Given the description of an element on the screen output the (x, y) to click on. 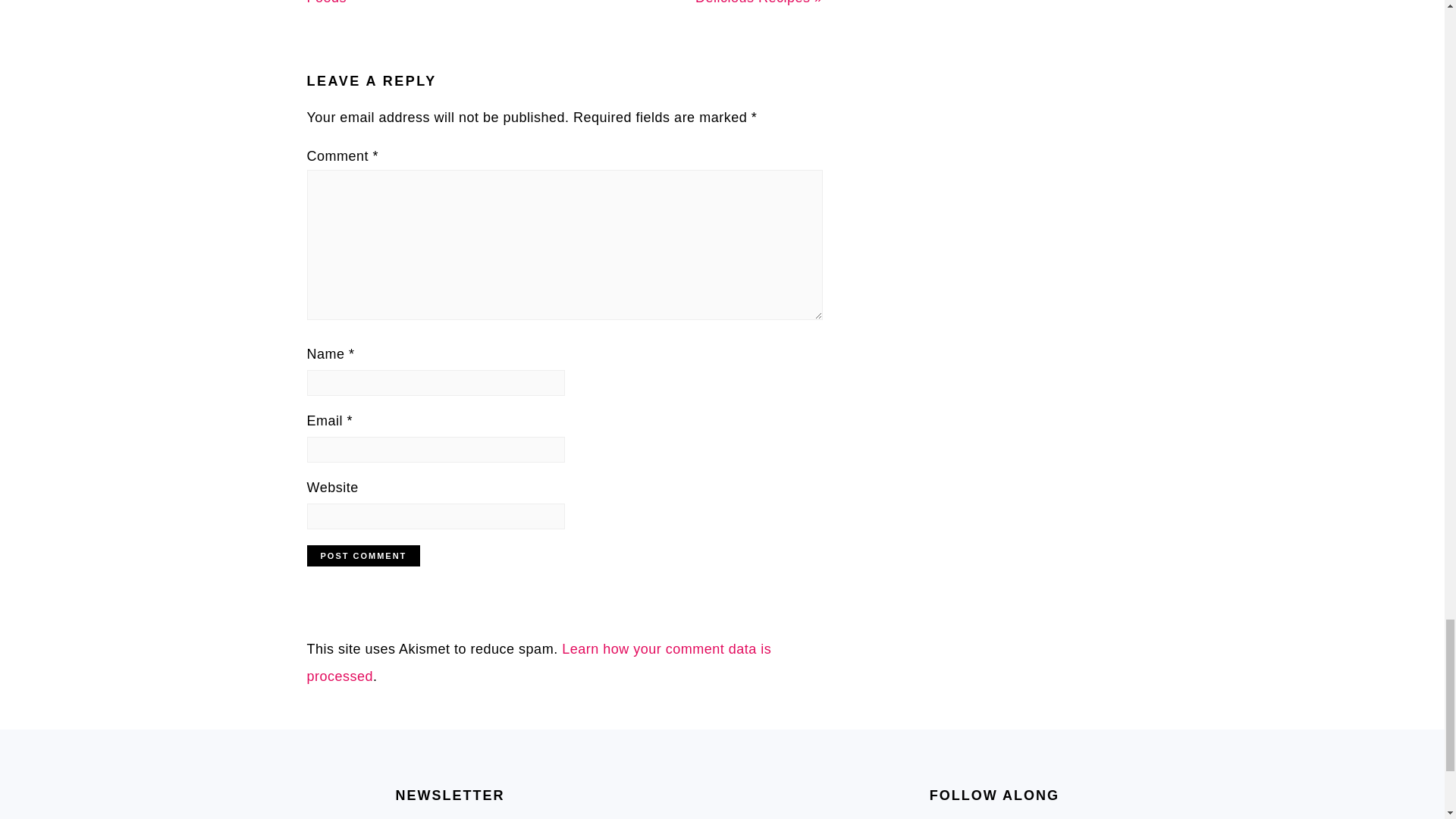
Post Comment (362, 555)
